Given the description of an element on the screen output the (x, y) to click on. 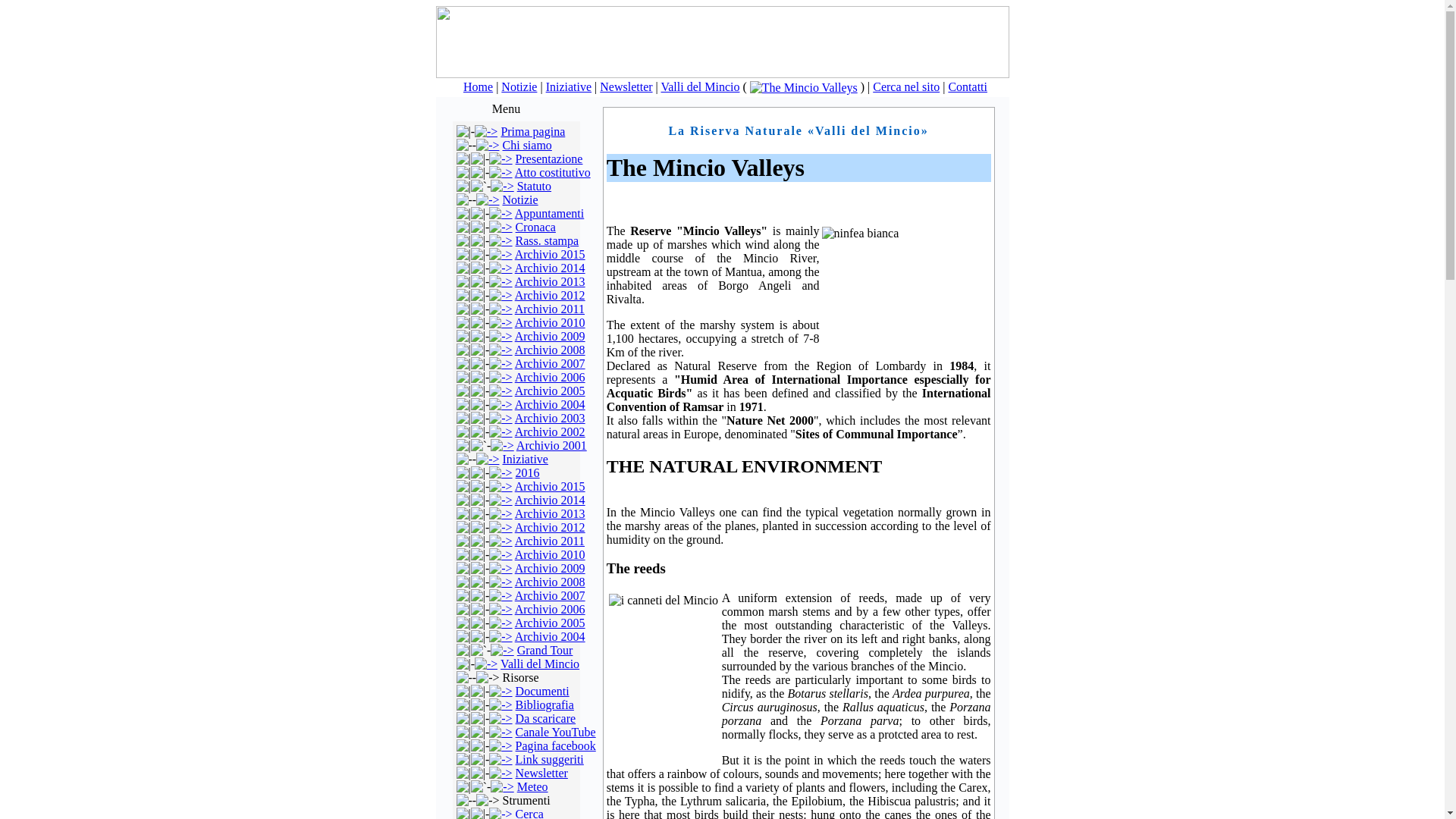
Cronaca della Valle del Mincio (500, 226)
Il nostro statuto (533, 185)
Il nostro statuto (501, 185)
Archivio 2011 (550, 308)
Newsletter (625, 86)
Contatti (967, 86)
Schede descrittive sulle Valli del Mincio (485, 663)
Gli Amici del Mincio si presentano (487, 144)
Archivio 2012 (550, 295)
Prossimi eventi ed iniziative di interesse (487, 459)
Archivio 2013 (550, 281)
Presentazione (549, 158)
Notizie (518, 86)
Cerca nel sito (905, 86)
